Given the description of an element on the screen output the (x, y) to click on. 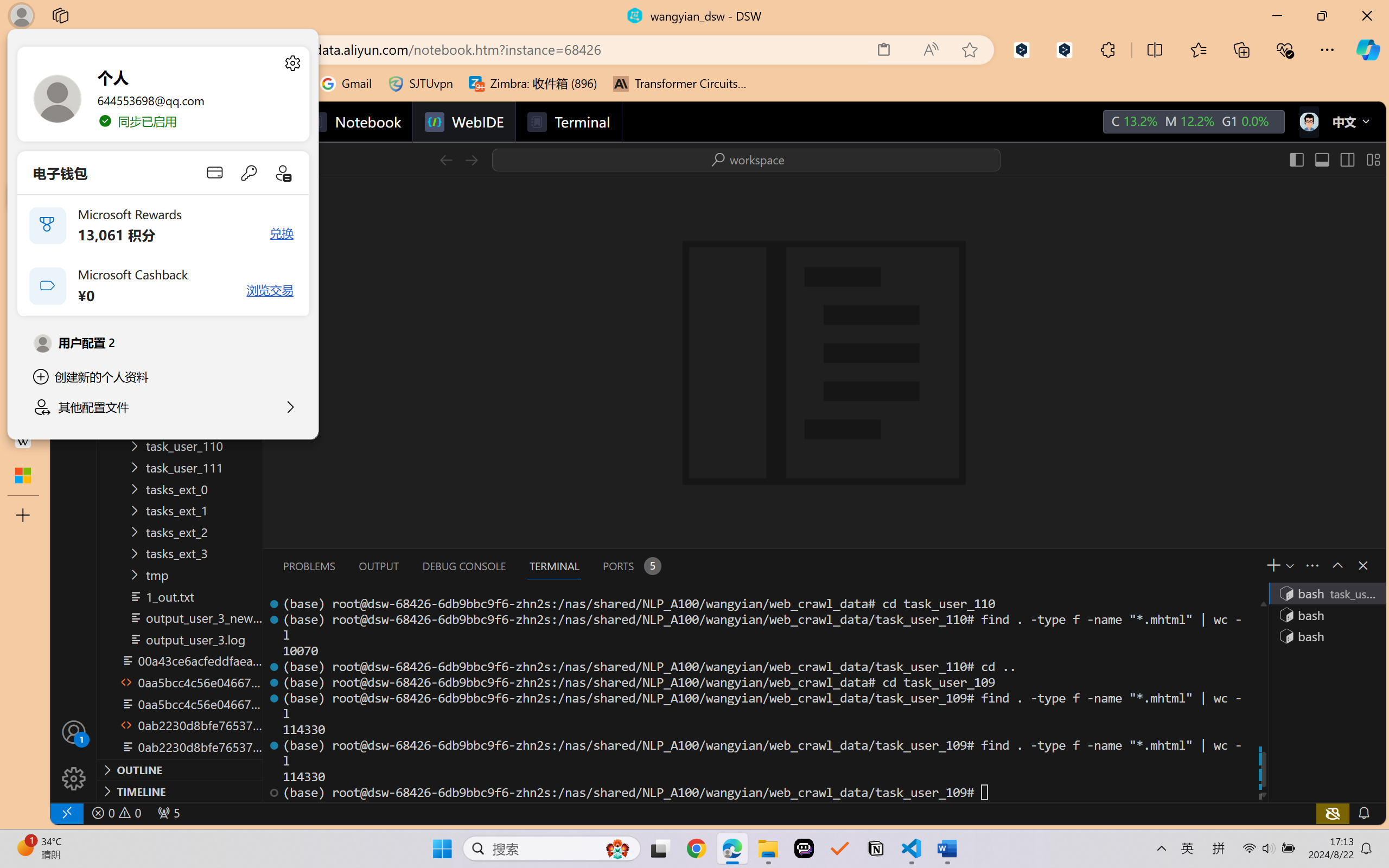
Maximize Panel Size (1337, 565)
icon (1308, 121)
No Problems (115, 812)
Manage (73, 755)
Class: next-menu next-hoz widgets--iconMenu--BFkiHRM (1308, 121)
Terminal actions (1000, 565)
Google Chrome (696, 848)
